Given the description of an element on the screen output the (x, y) to click on. 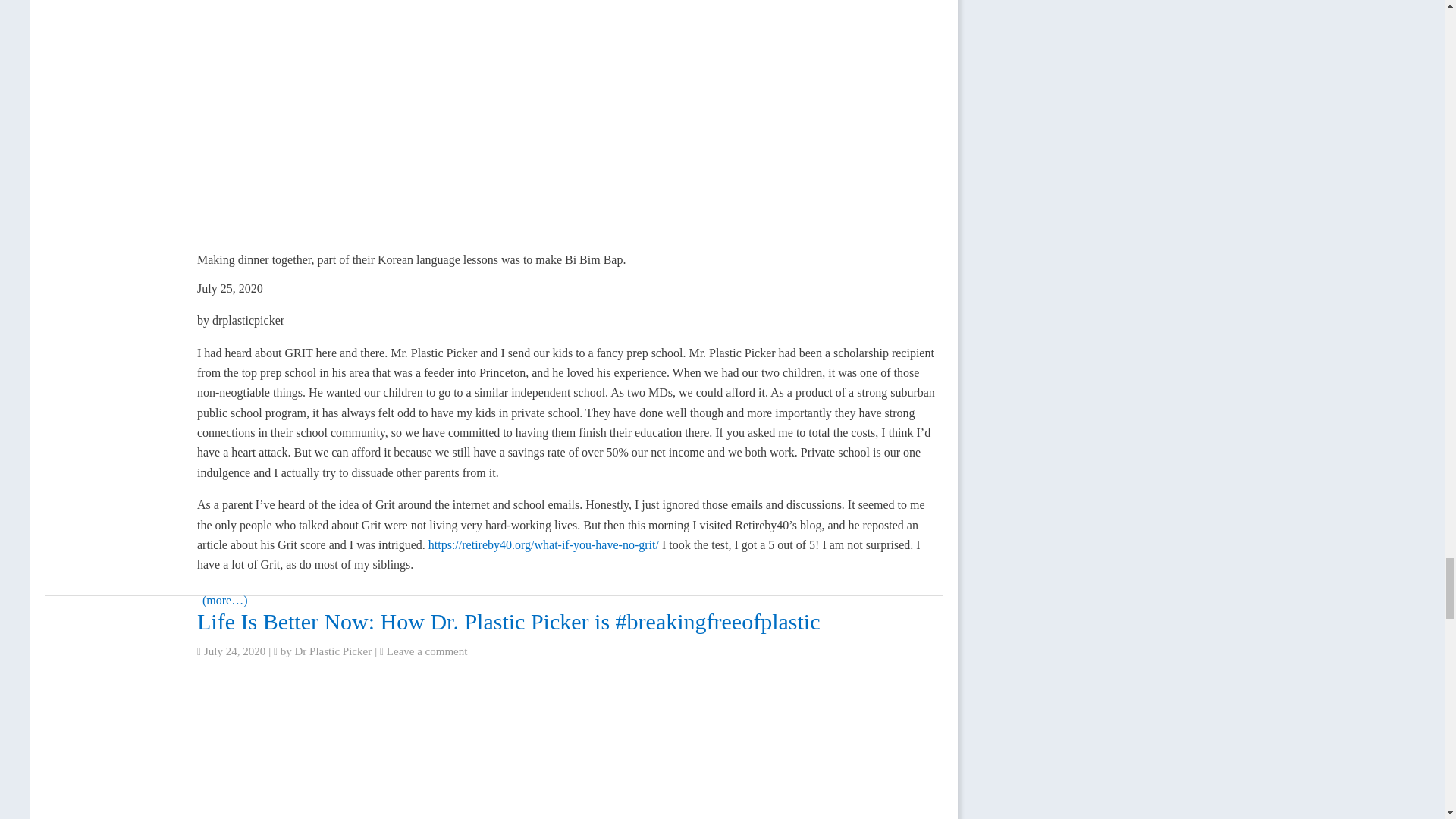
Dr Plastic Picker (333, 651)
